Given the description of an element on the screen output the (x, y) to click on. 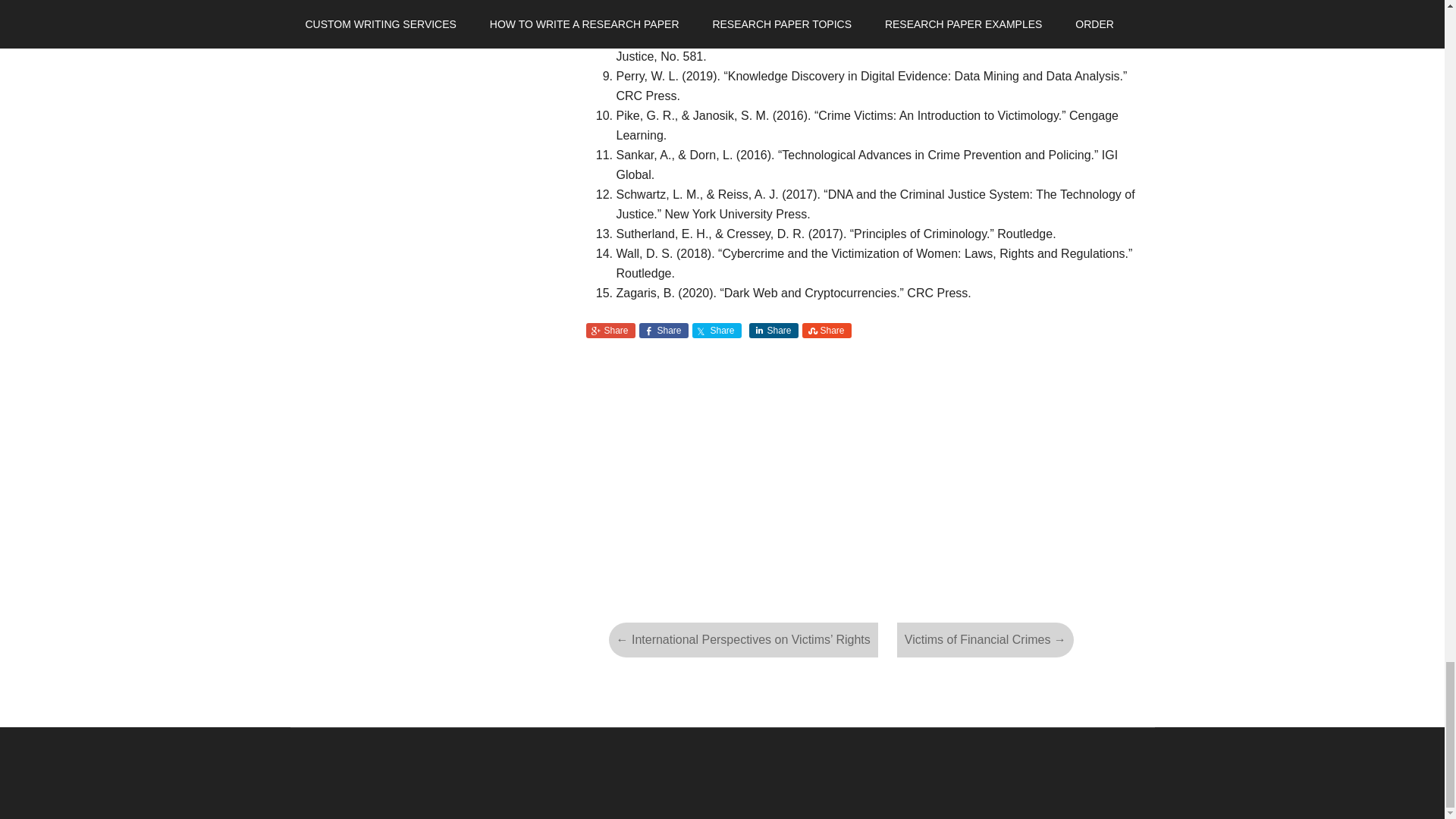
Share (663, 330)
Share (716, 330)
Share (609, 330)
Share (826, 330)
Share (773, 330)
